Given the description of an element on the screen output the (x, y) to click on. 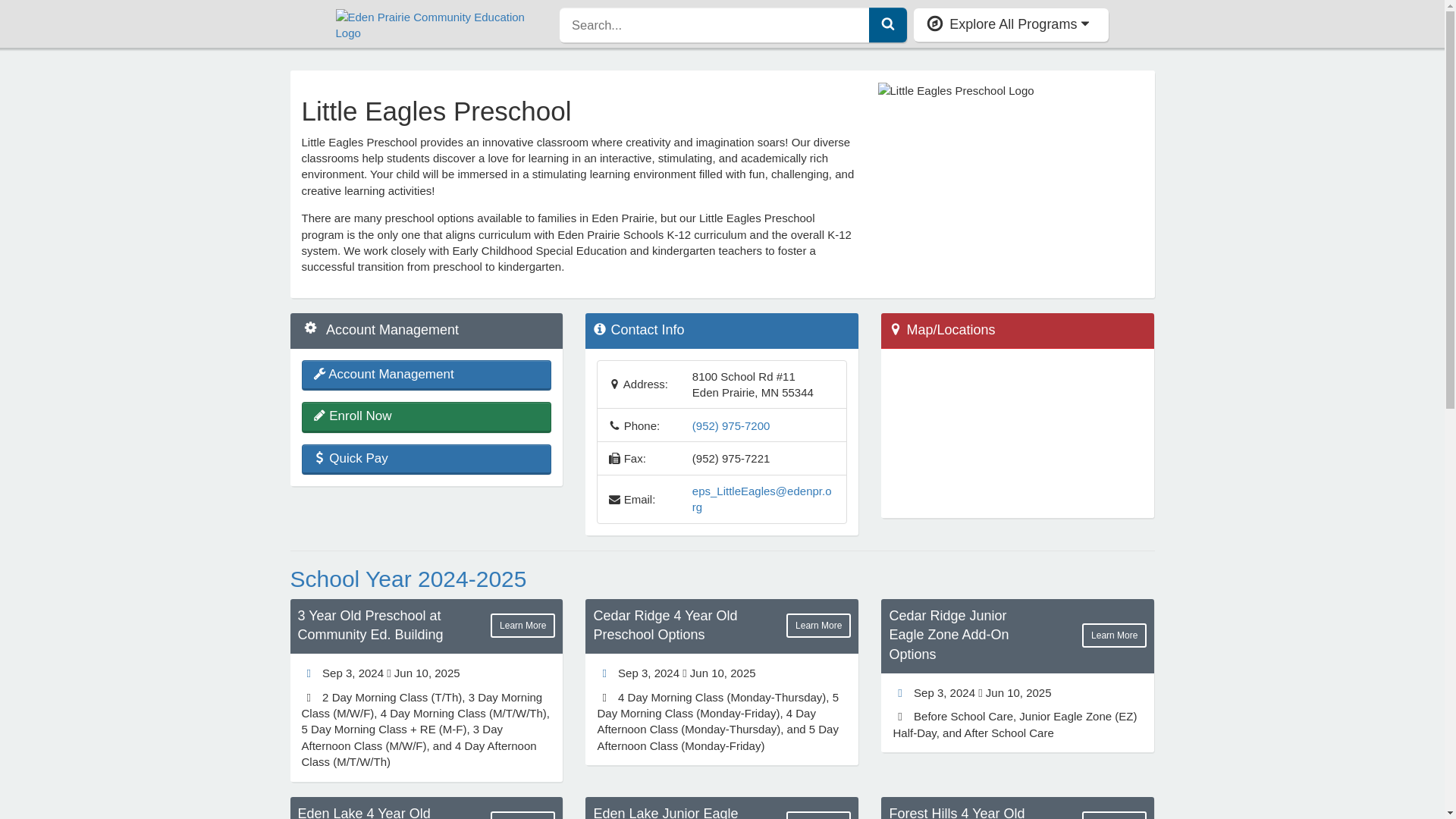
 Cog Icon (309, 327)
Explore All Programs (1011, 24)
 Compass Icon (934, 23)
 Pencil Icon (318, 414)
 Caret Down Icon (1085, 23)
 Wrench Icon (318, 373)
 Search Icon (887, 23)
